Given the description of an element on the screen output the (x, y) to click on. 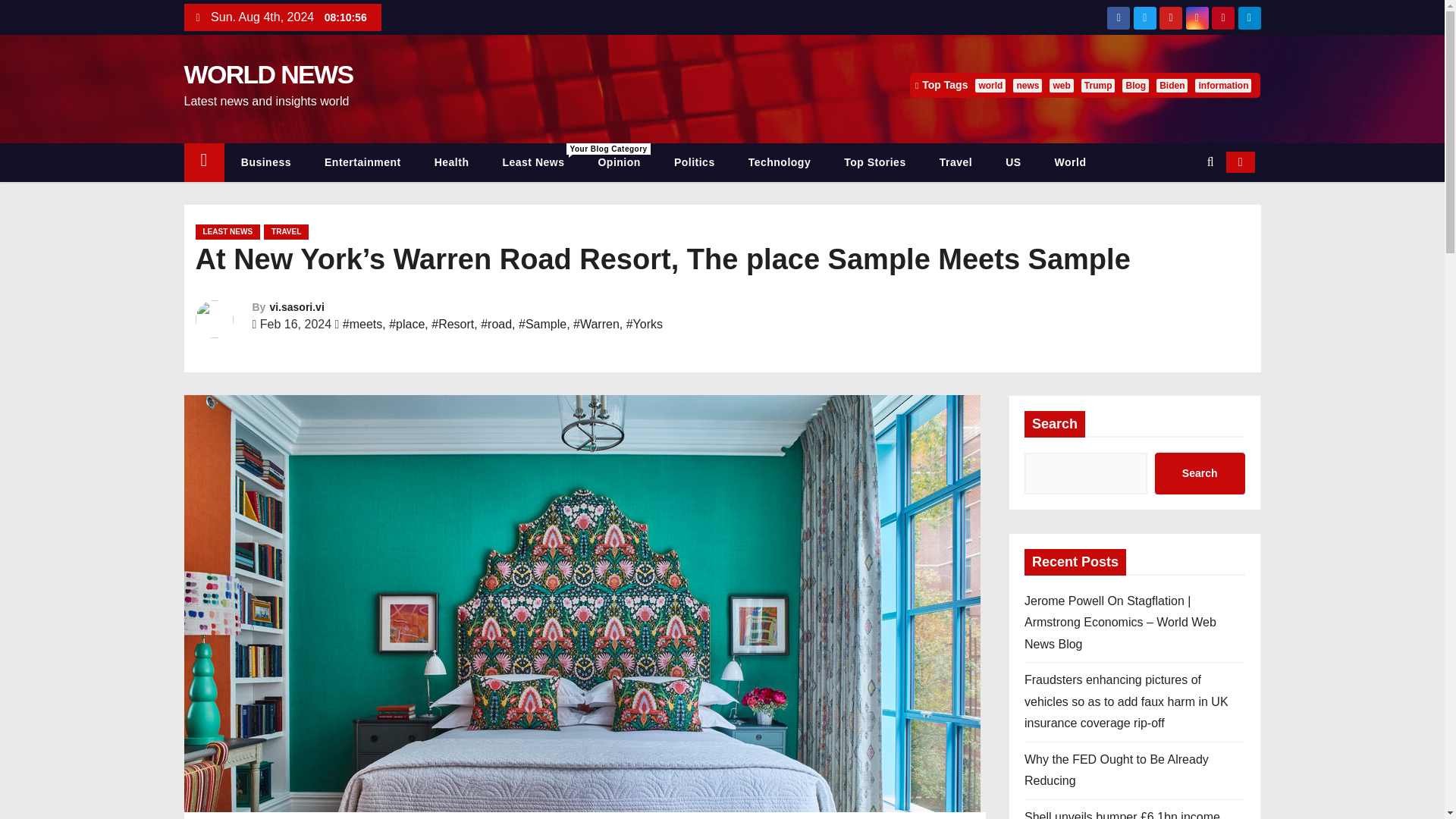
vi.sasori.vi (296, 306)
Entertainment (362, 162)
World (1070, 162)
web (532, 162)
LEAST NEWS (1061, 85)
WORLD NEWS (227, 231)
news (267, 73)
US (1027, 85)
TRAVEL (1012, 162)
Home (285, 231)
Business (203, 162)
Trump (265, 162)
Top Stories (1098, 85)
Least News (874, 162)
